Given the description of an element on the screen output the (x, y) to click on. 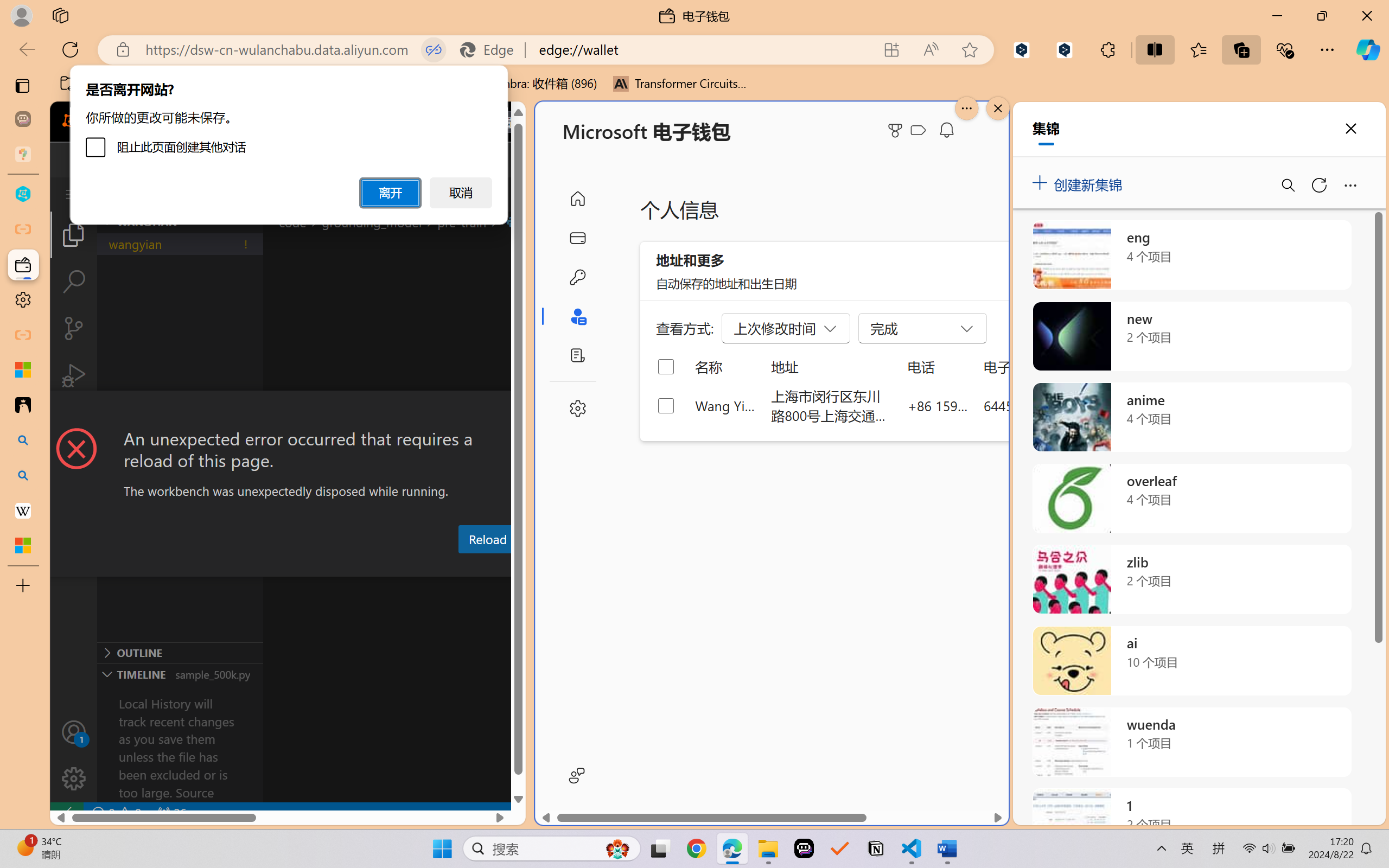
Copilot (Ctrl+Shift+.) (1368, 49)
Output (Ctrl+Shift+U) (377, 565)
Debug Console (Ctrl+Shift+Y) (463, 565)
Problems (Ctrl+Shift+M) (308, 565)
Outline Section (179, 652)
